Given the description of an element on the screen output the (x, y) to click on. 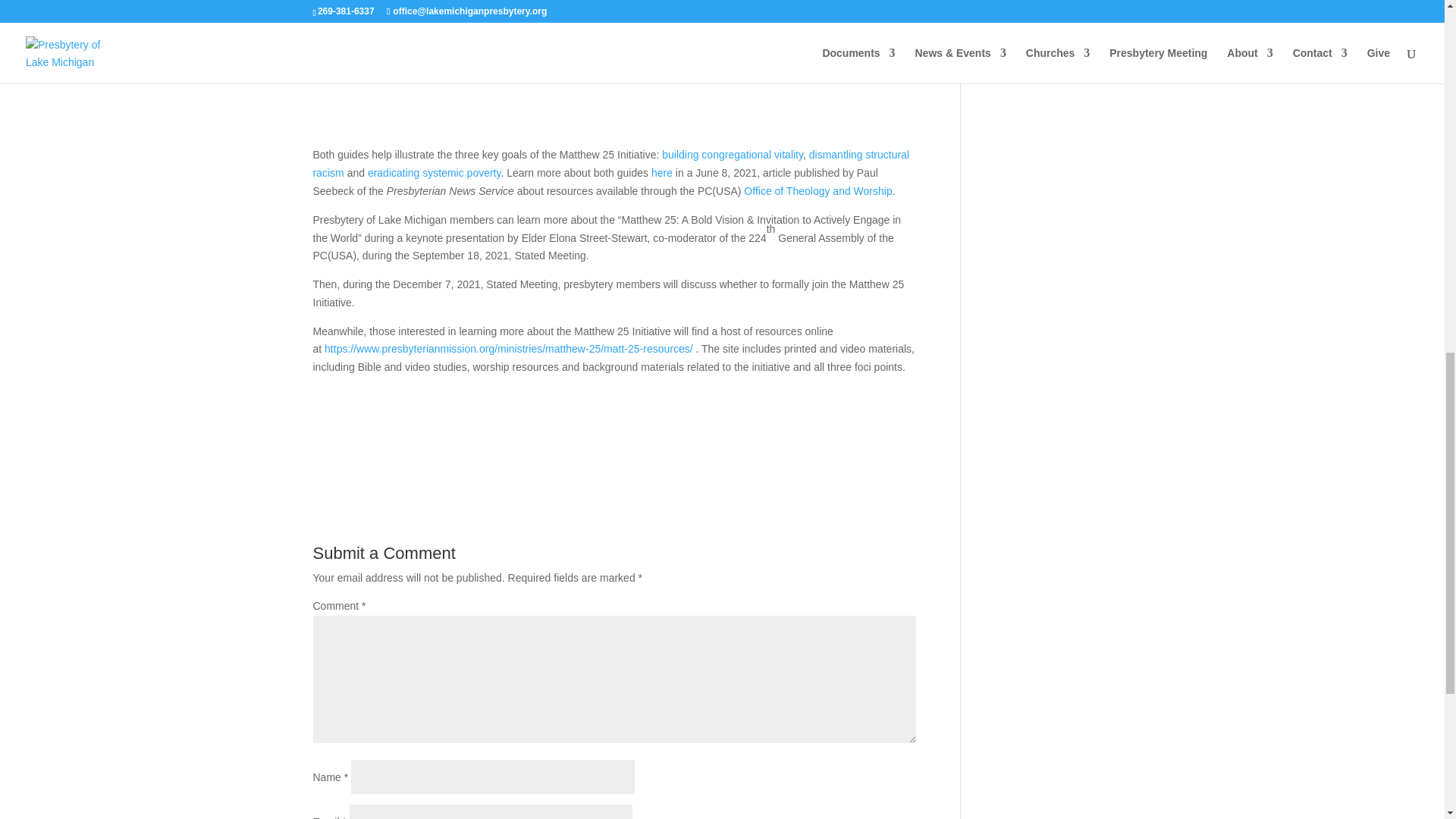
building congregational vitality (732, 154)
View Study Guide (389, 110)
dismantling structural racism (610, 163)
